Given the description of an element on the screen output the (x, y) to click on. 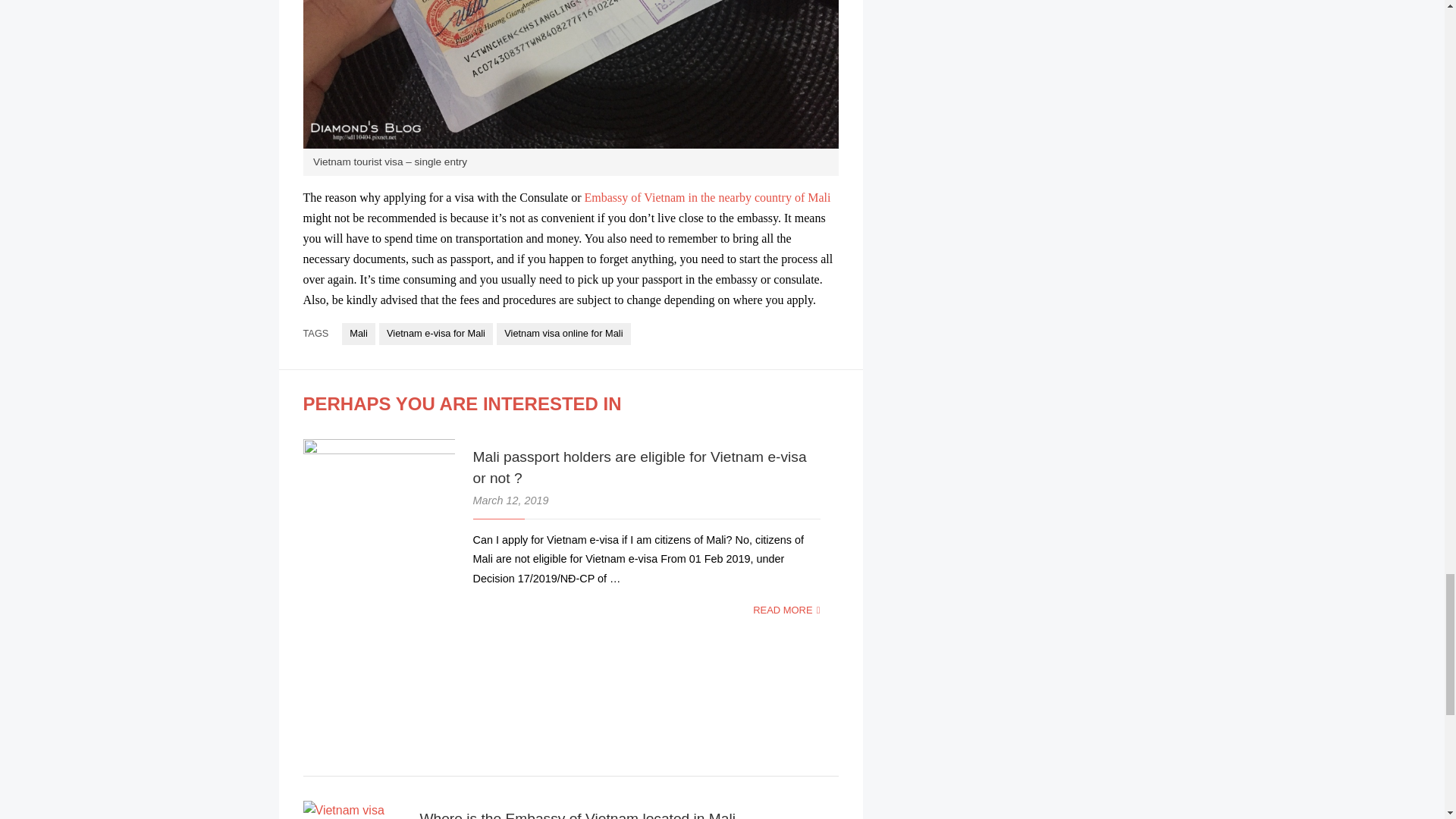
Where is the Embassy of Vietnam located in Mali (577, 814)
Mali (358, 333)
Vietnam visa online for Mali (563, 333)
READ MORE (785, 609)
Embassy of Vietnam in the nearby country of Mali (708, 196)
Vietnam e-visa for Mali (435, 333)
